Given the description of an element on the screen output the (x, y) to click on. 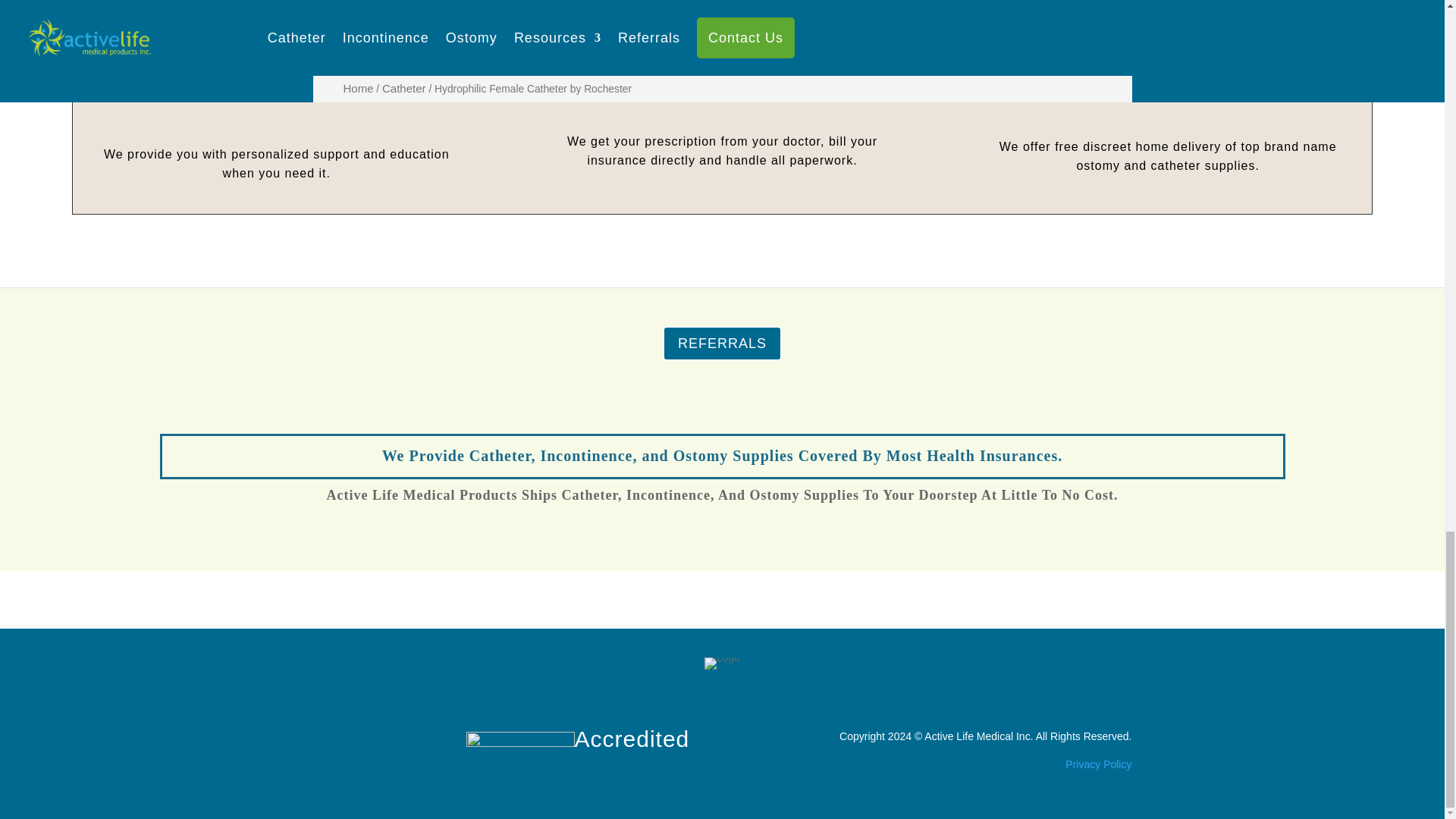
icon-checklist transparent (721, 67)
icon-headset transparent (277, 77)
icon-package transparent (1168, 72)
LogoFooter (721, 663)
Privacy Policy (1098, 764)
Active Life Medical Inc (976, 736)
REFERRALS (721, 342)
